Given the description of an element on the screen output the (x, y) to click on. 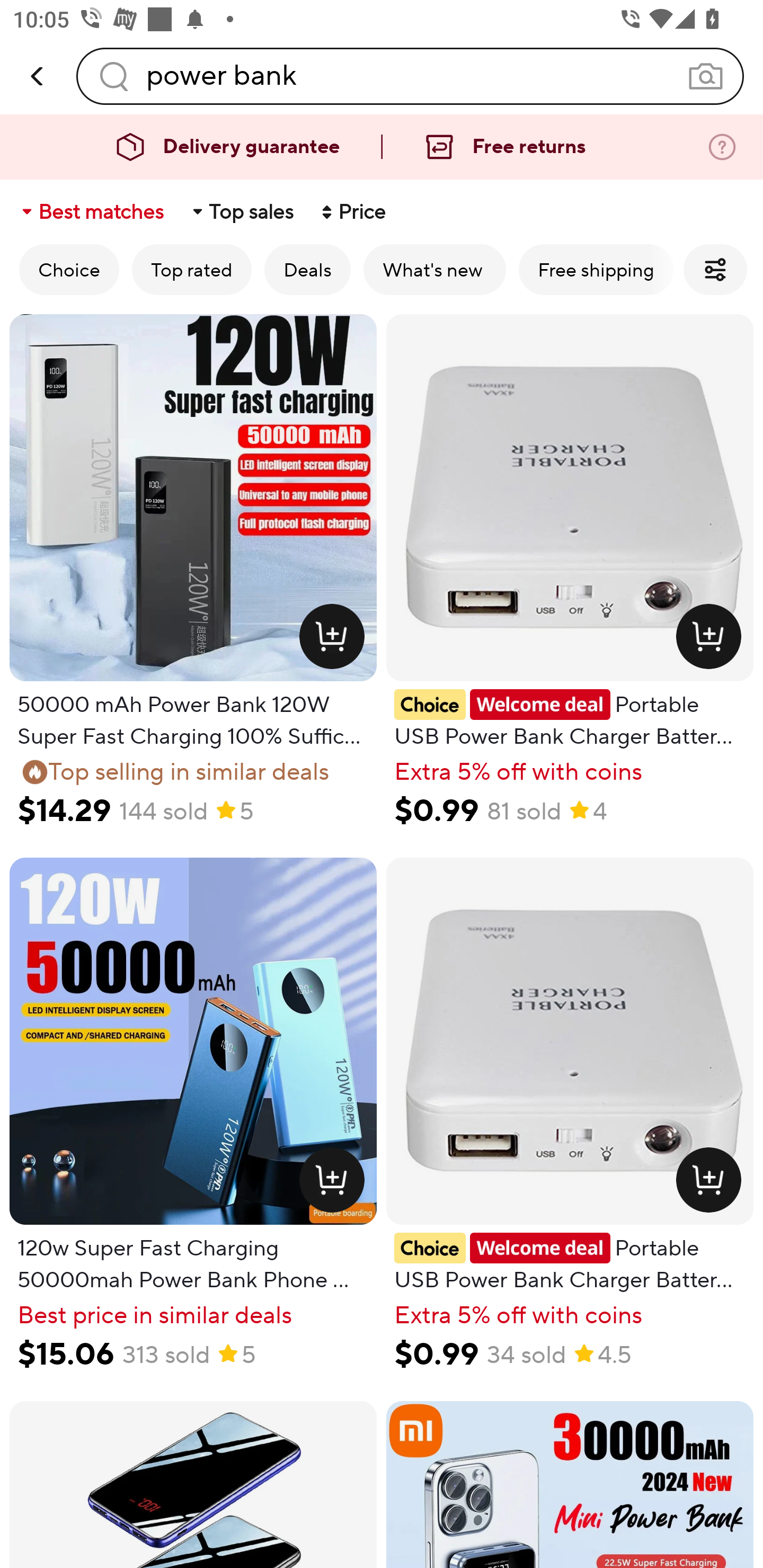
back (38, 75)
power bank Search query (409, 76)
power bank Search query (409, 76)
Best matches (91, 212)
Top sales (241, 212)
Price (352, 212)
Choice (69, 269)
Top rated (191, 269)
Deals (307, 269)
What's new  (434, 269)
Free shipping (595, 269)
